Given the description of an element on the screen output the (x, y) to click on. 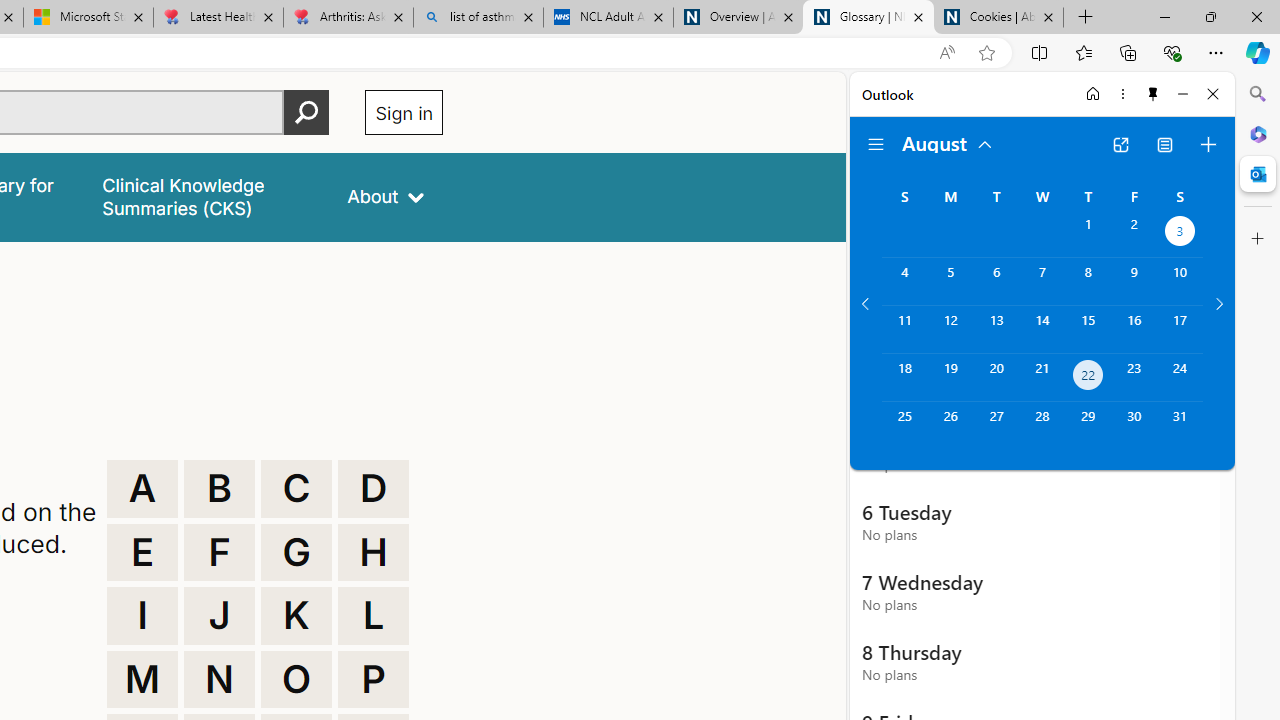
O (296, 679)
M (142, 679)
D (373, 488)
D (373, 488)
P (373, 679)
Glossary | NICE (868, 17)
Thursday, August 22, 2024. Today.  (1088, 377)
Tuesday, August 20, 2024.  (996, 377)
I (142, 615)
Tuesday, August 6, 2024.  (996, 281)
Perform search (307, 112)
Monday, August 12, 2024.  (950, 329)
